Given the description of an element on the screen output the (x, y) to click on. 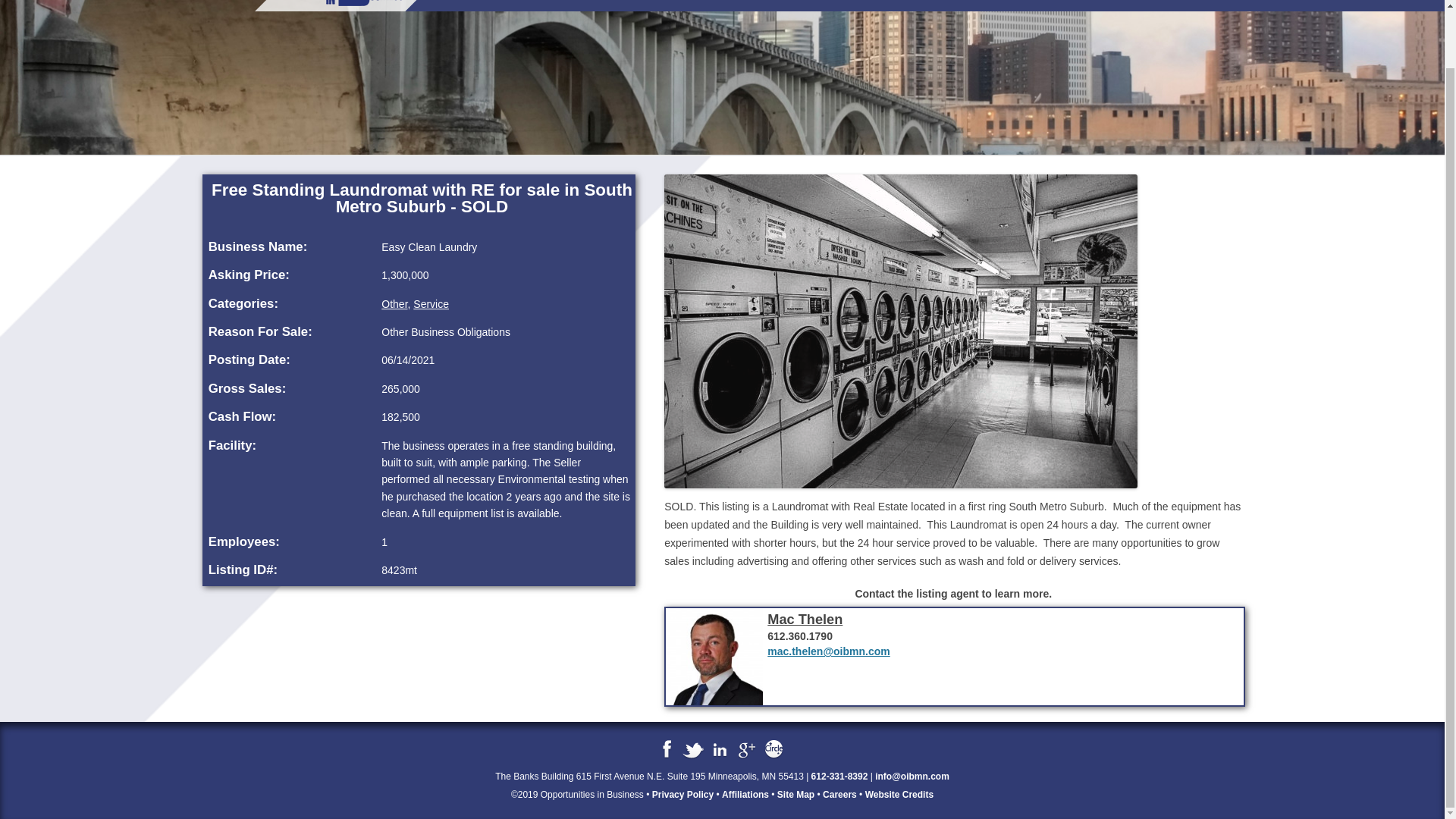
Careers (992, 4)
Home (479, 4)
All Listings (663, 19)
Service (430, 304)
Opportunities in Business (250, 5)
Mac Thelen (805, 619)
Listings (607, 4)
Our Associates (772, 4)
Reviews (1106, 4)
Contact Us (918, 4)
Buy a Business (595, 19)
Services (541, 4)
Author Bio for Mac Thelen (805, 619)
FAQs (849, 4)
Blog (1048, 4)
